Given the description of an element on the screen output the (x, y) to click on. 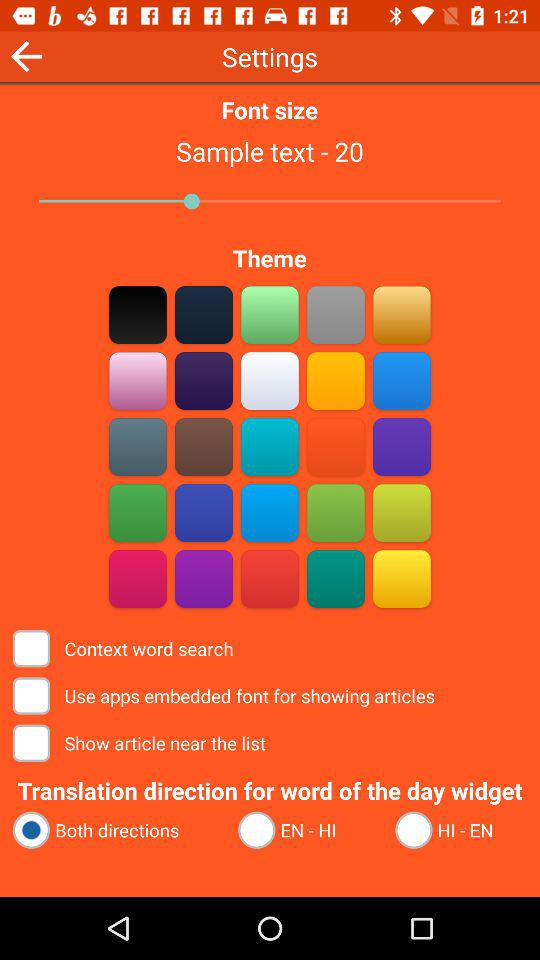
select black theme (137, 314)
